Given the description of an element on the screen output the (x, y) to click on. 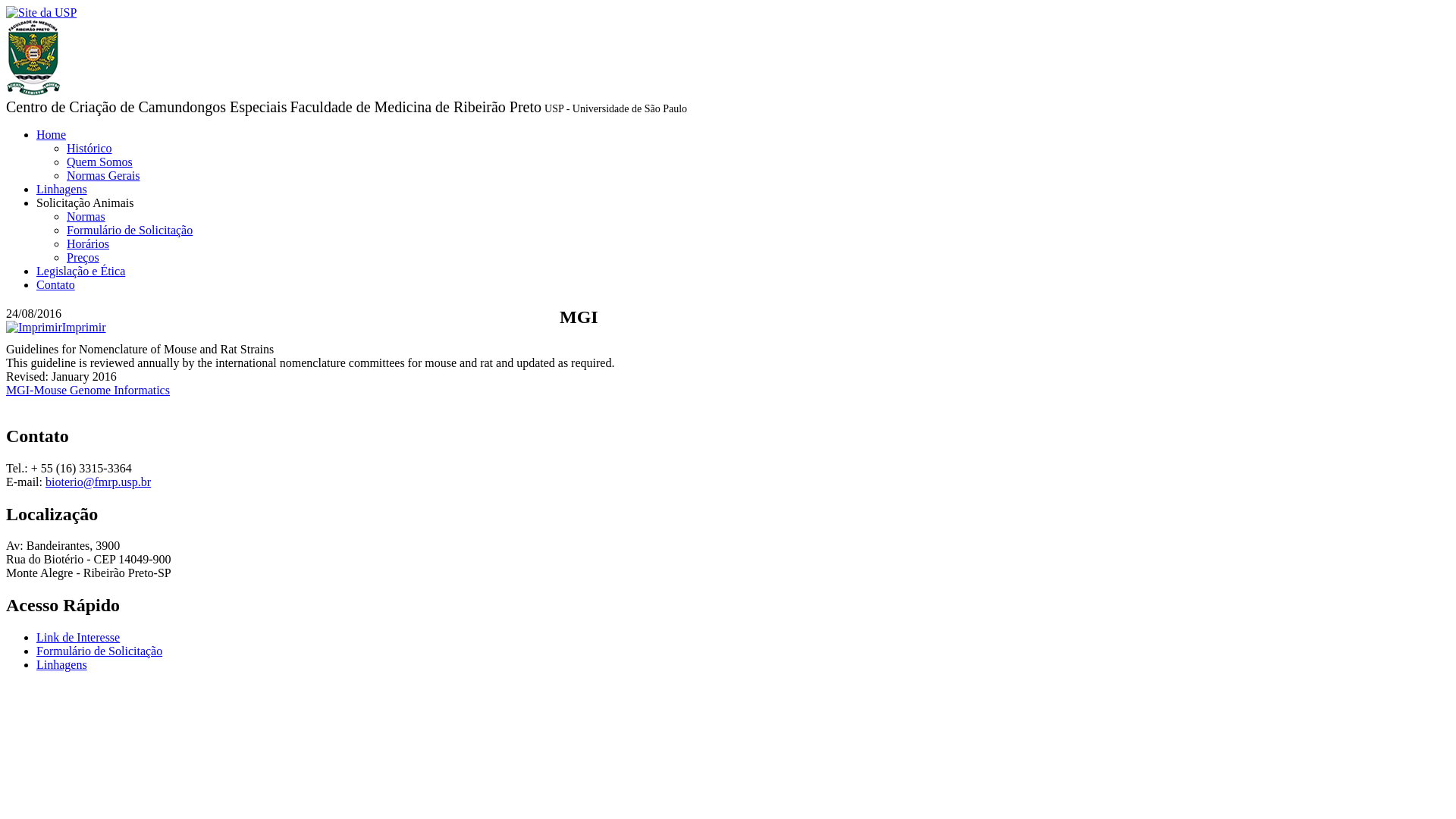
Site da USP Element type: hover (41, 12)
Link de Interesse Element type: text (77, 636)
Home Element type: text (50, 134)
Linhagens Element type: text (61, 664)
Linhagens Element type: text (61, 188)
Normas Element type: text (85, 216)
MGI-Mouse Genome Informatics Element type: text (87, 389)
Imprimir Element type: text (56, 326)
bioterio@fmrp.usp.br Element type: text (97, 481)
Contato Element type: text (55, 284)
Quem Somos Element type: text (99, 161)
Normas Gerais Element type: text (102, 175)
